Given the description of an element on the screen output the (x, y) to click on. 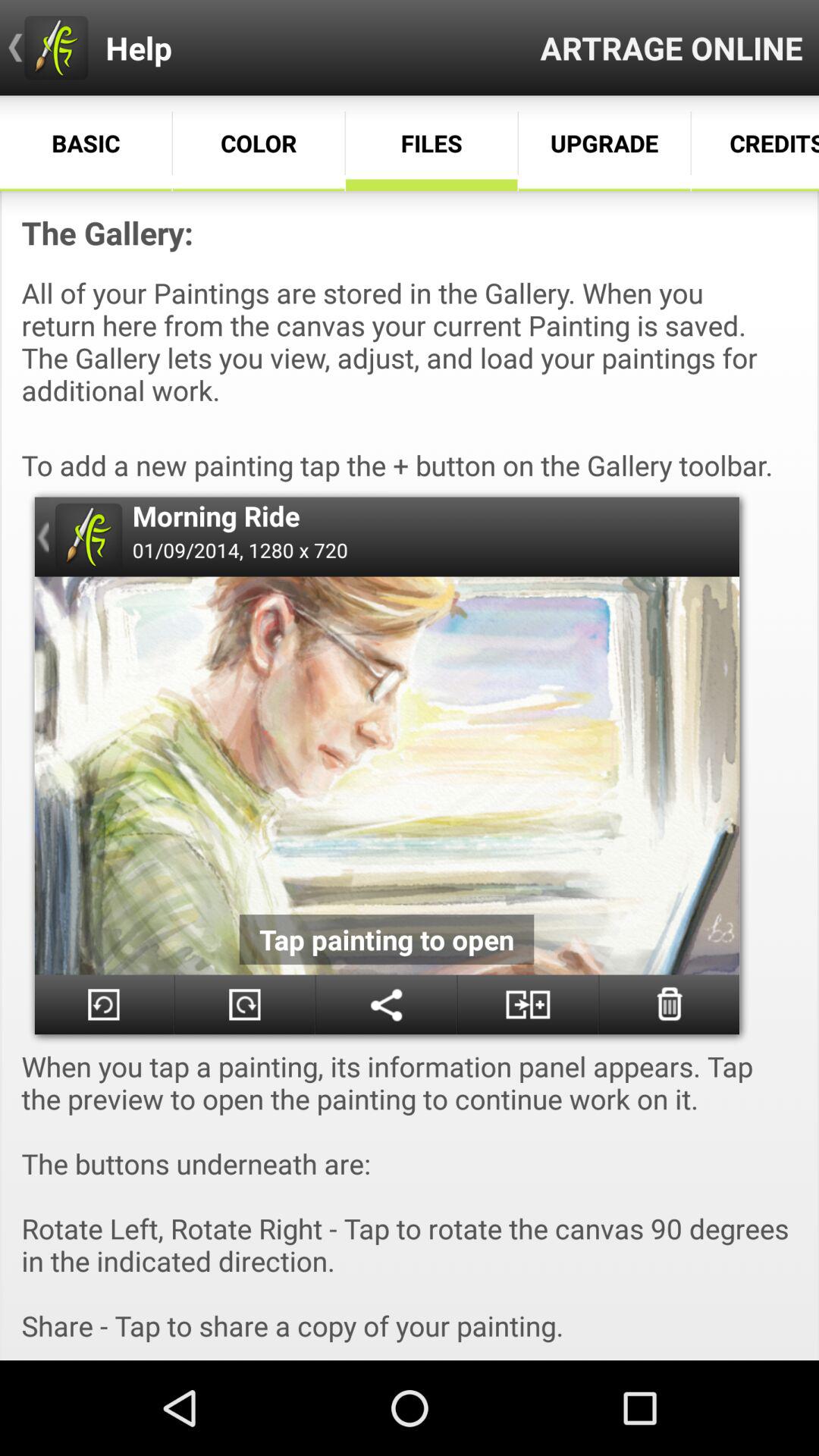
click on share (386, 1004)
select the option which is before share button (245, 1004)
select the option below the text artrage (604, 143)
